Given the description of an element on the screen output the (x, y) to click on. 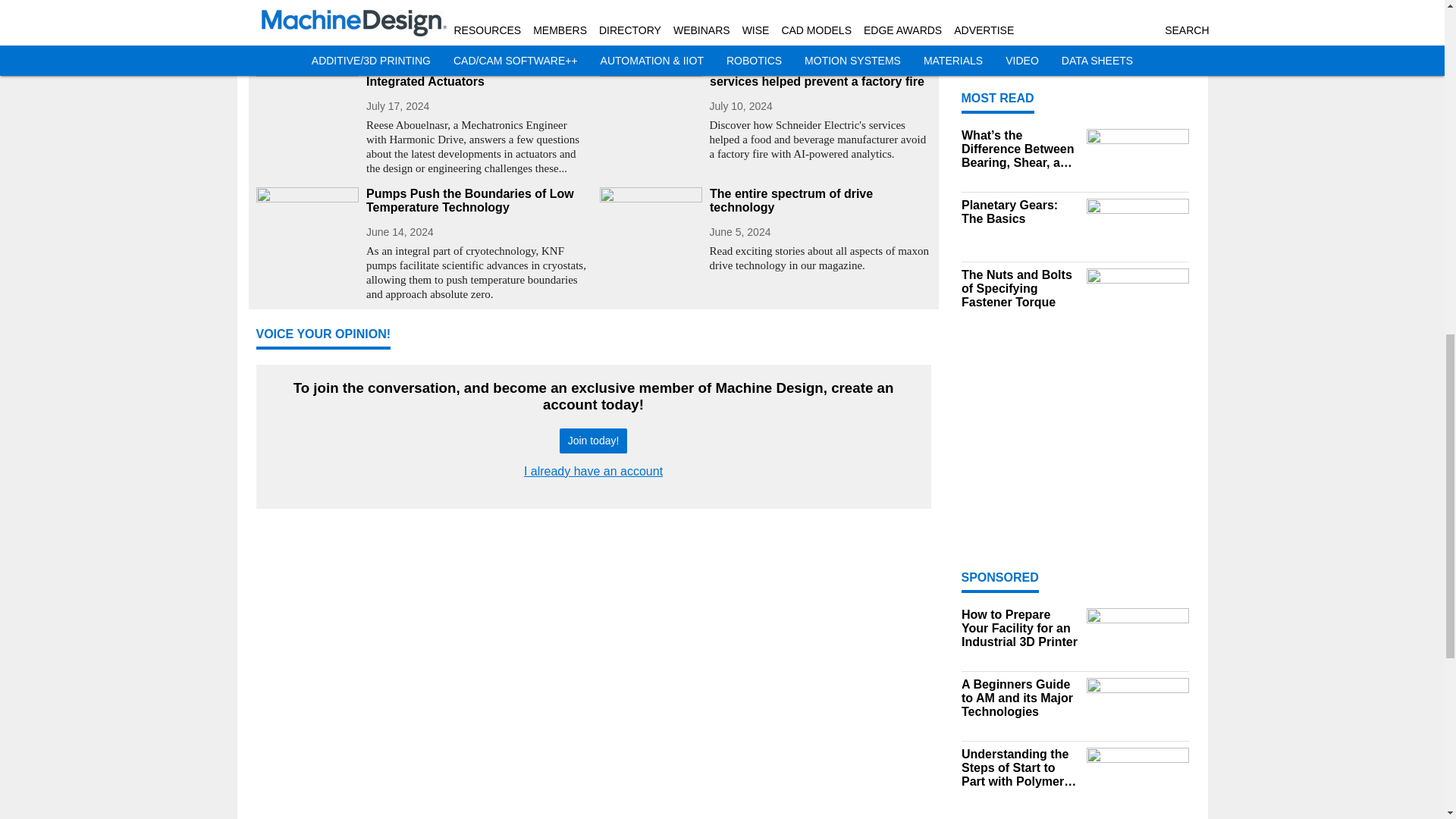
How to Build Better Robotics with Integrated Actuators (476, 74)
I already have an account (593, 471)
Join today! (593, 440)
The entire spectrum of drive technology (820, 200)
Pumps Push the Boundaries of Low Temperature Technology (476, 200)
